Given the description of an element on the screen output the (x, y) to click on. 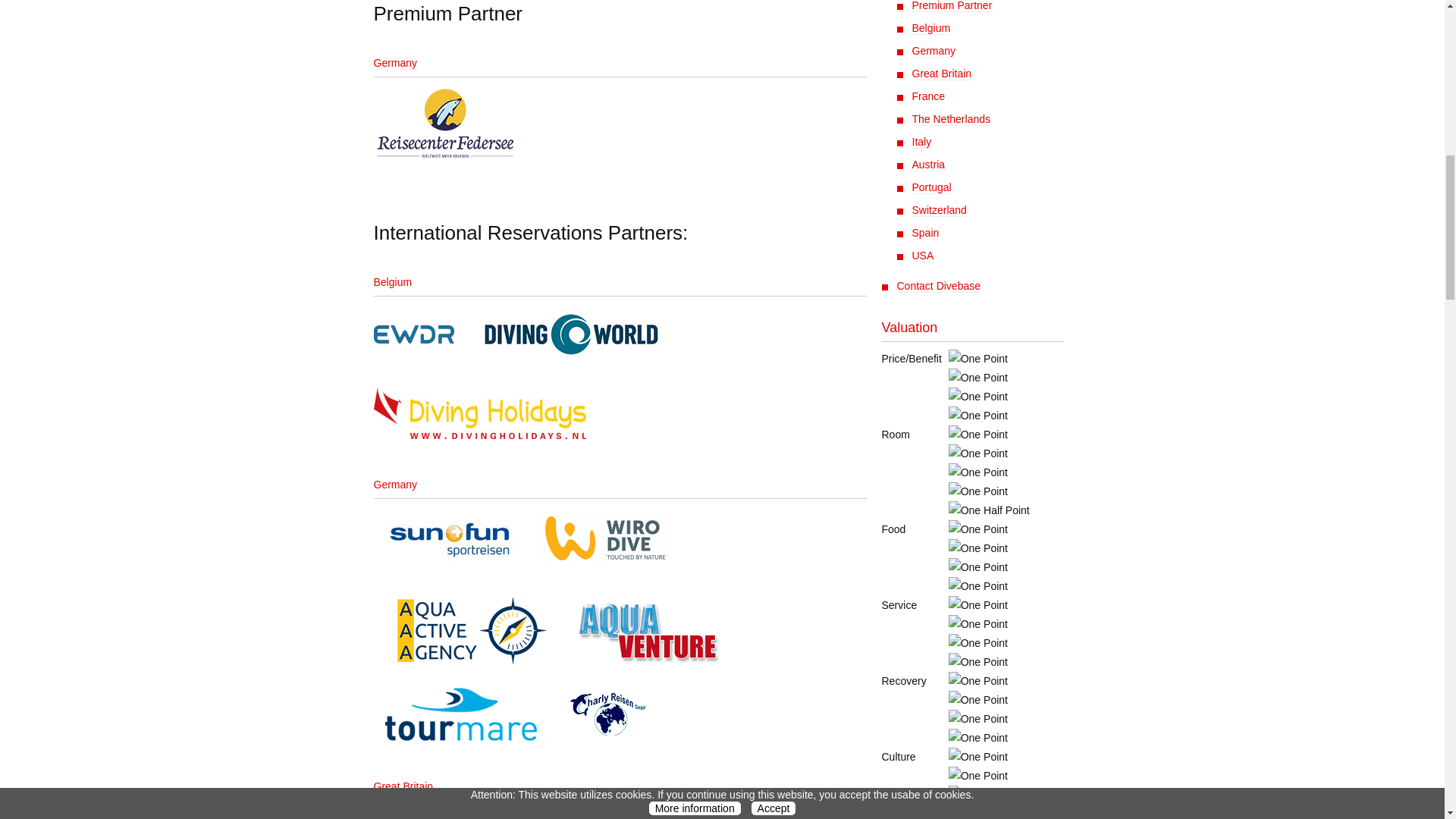
EWDR (418, 334)
Regal Dive (782, 813)
Sun and Fun Sportreisen GmbH (454, 539)
divingworld NL (579, 333)
Diving Holidays NL (485, 411)
